Given the description of an element on the screen output the (x, y) to click on. 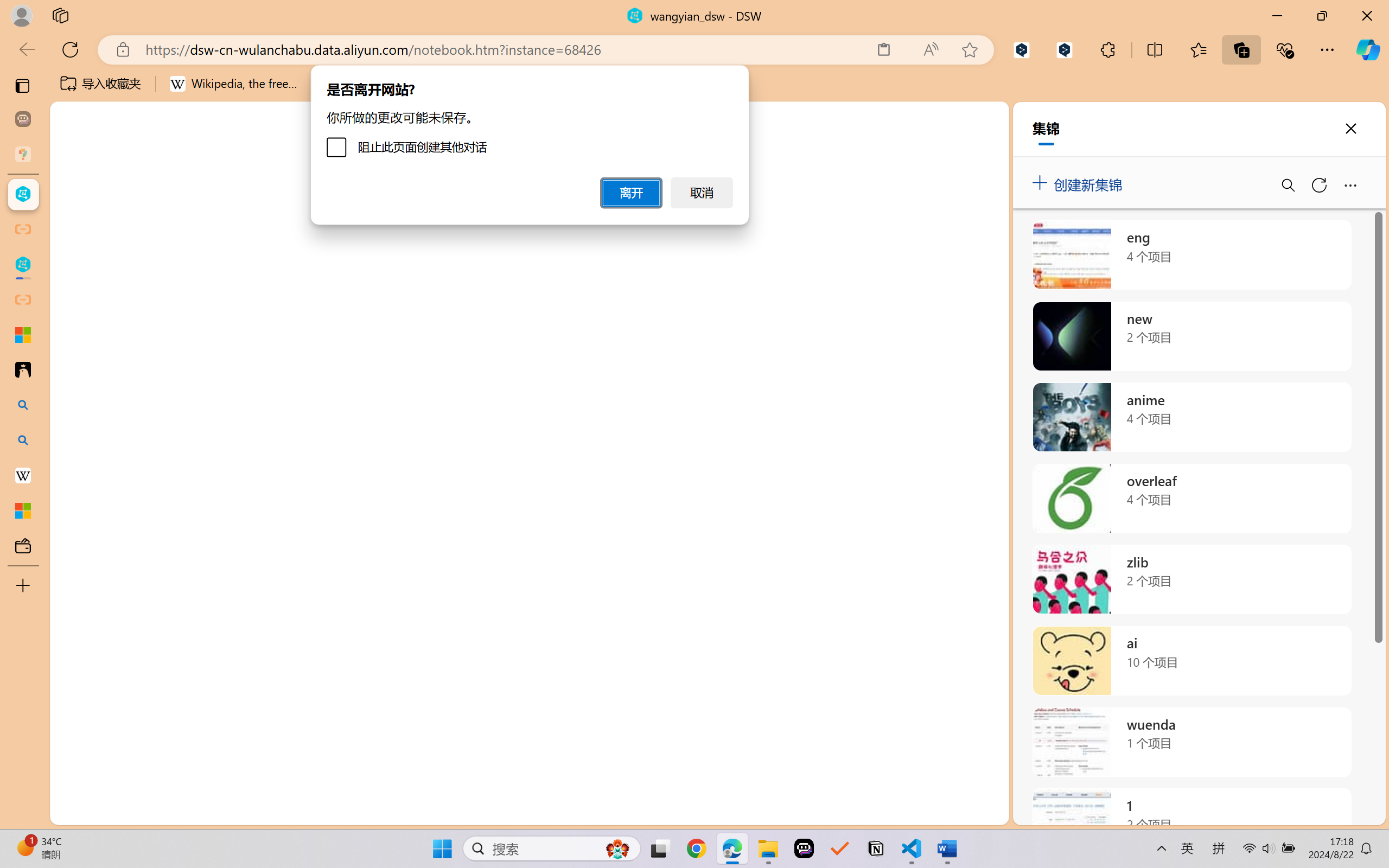
Toggle Primary Side Bar (Ctrl+B) (1295, 159)
Toggle Panel (Ctrl+J) (1320, 159)
Google Chrome (696, 848)
Views and More Actions... (1311, 565)
Class: actions-container (1351, 565)
